Given the description of an element on the screen output the (x, y) to click on. 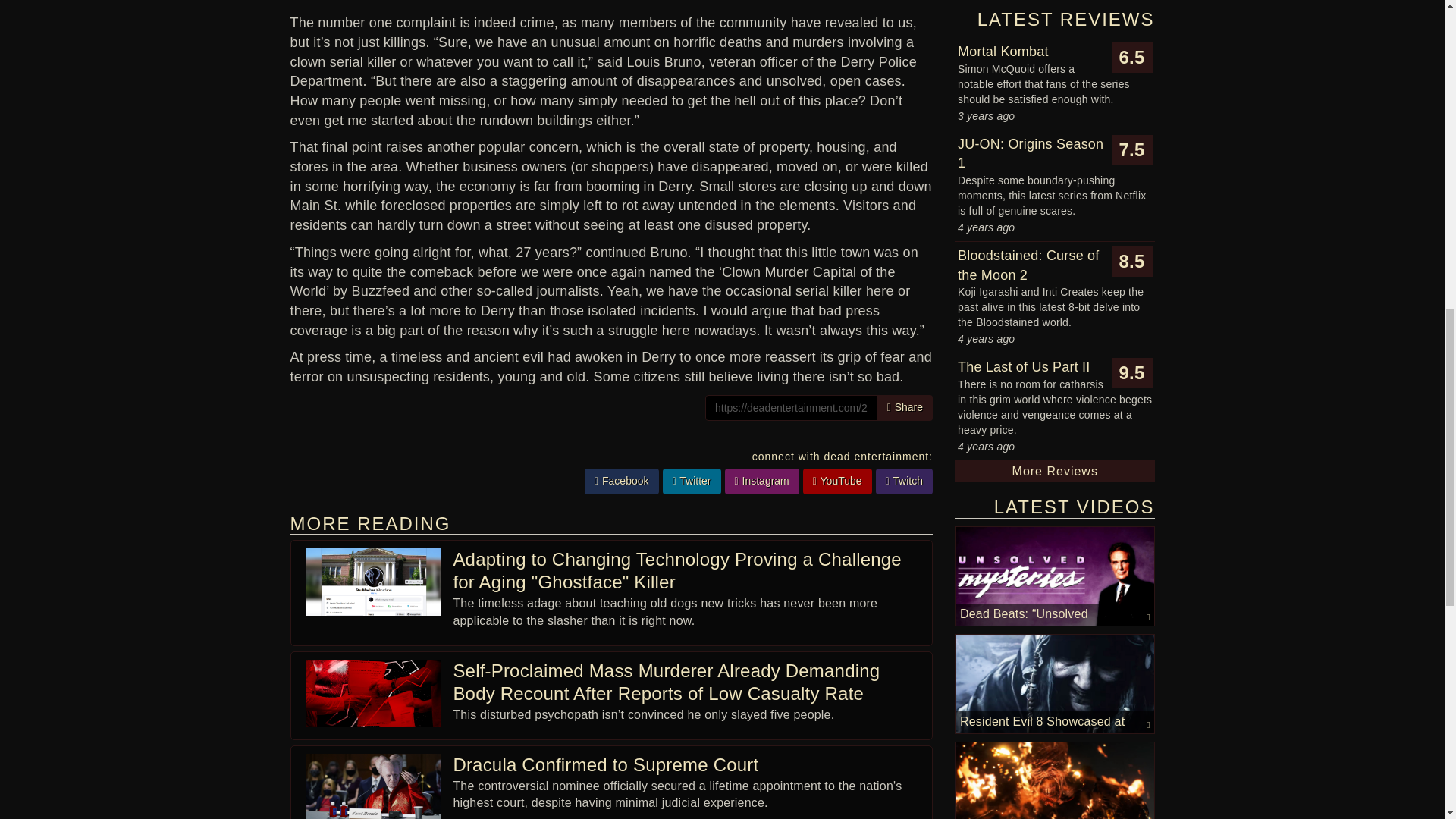
Facebook (622, 481)
Share (905, 407)
Facebook (622, 481)
Twitter (691, 481)
Twitch (904, 481)
Instagram (762, 481)
Twitch (904, 481)
YouTube (837, 481)
Twitter (691, 481)
YouTube (837, 481)
Instagram (762, 481)
